Given the description of an element on the screen output the (x, y) to click on. 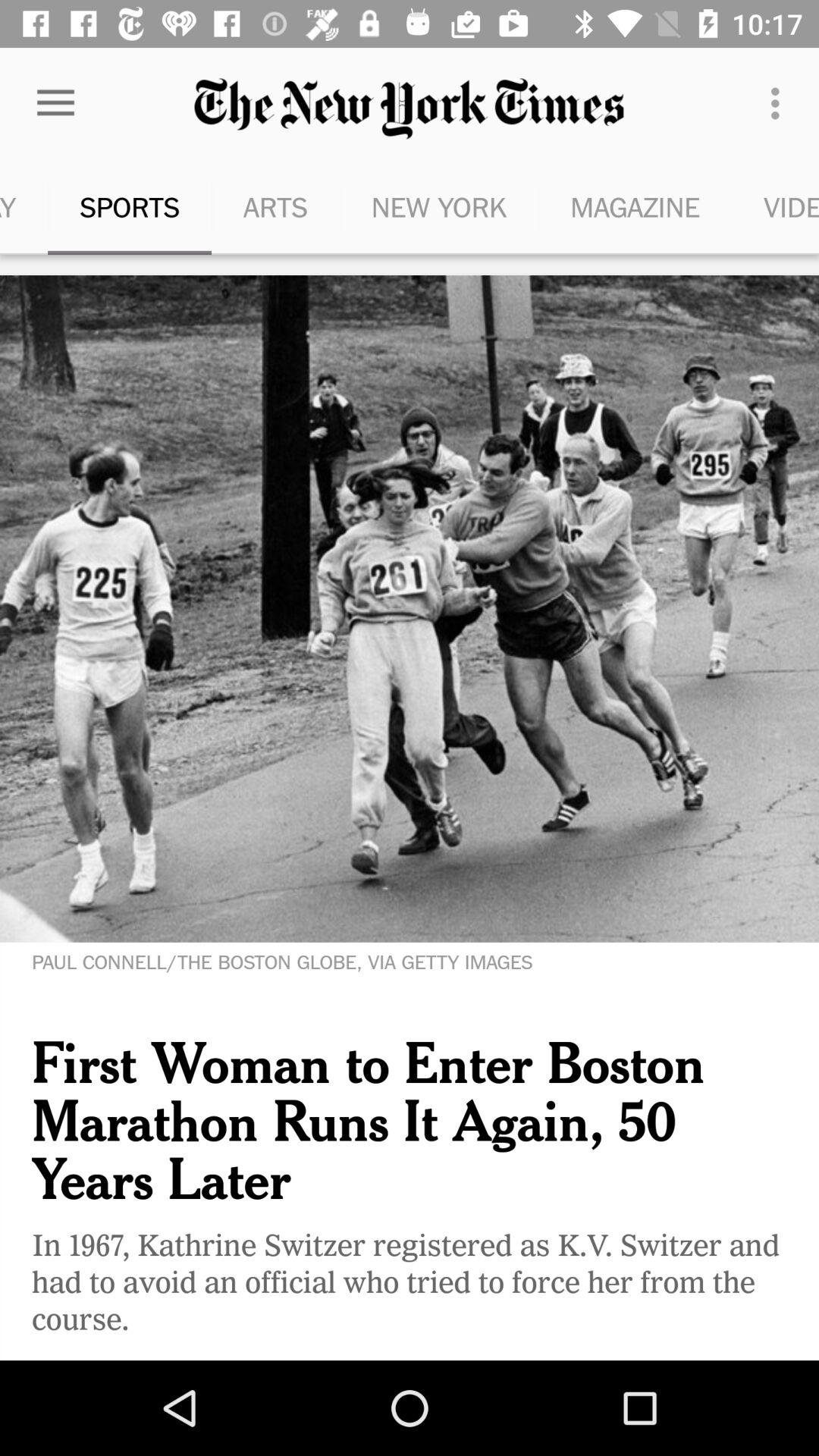
select the sports icon (129, 206)
